Given the description of an element on the screen output the (x, y) to click on. 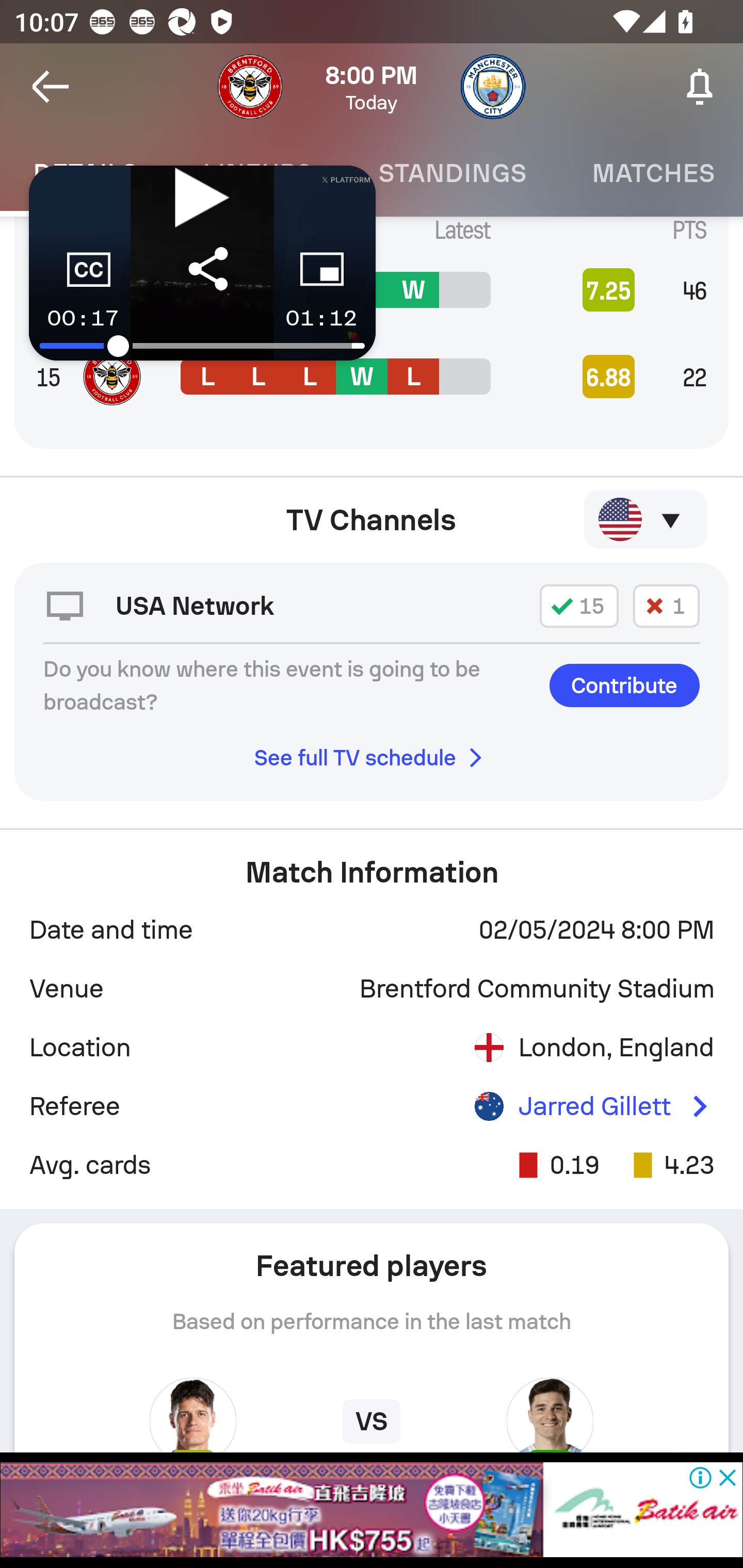
Navigate up (50, 86)
Standings STANDINGS (451, 173)
Matches MATCHES (650, 173)
15 (578, 605)
1 (666, 605)
Contribute (624, 685)
See full TV schedule (371, 758)
Referee Jarred Gillett (371, 1106)
batik-air-x-hkia-promotion (371, 1509)
